Given the description of an element on the screen output the (x, y) to click on. 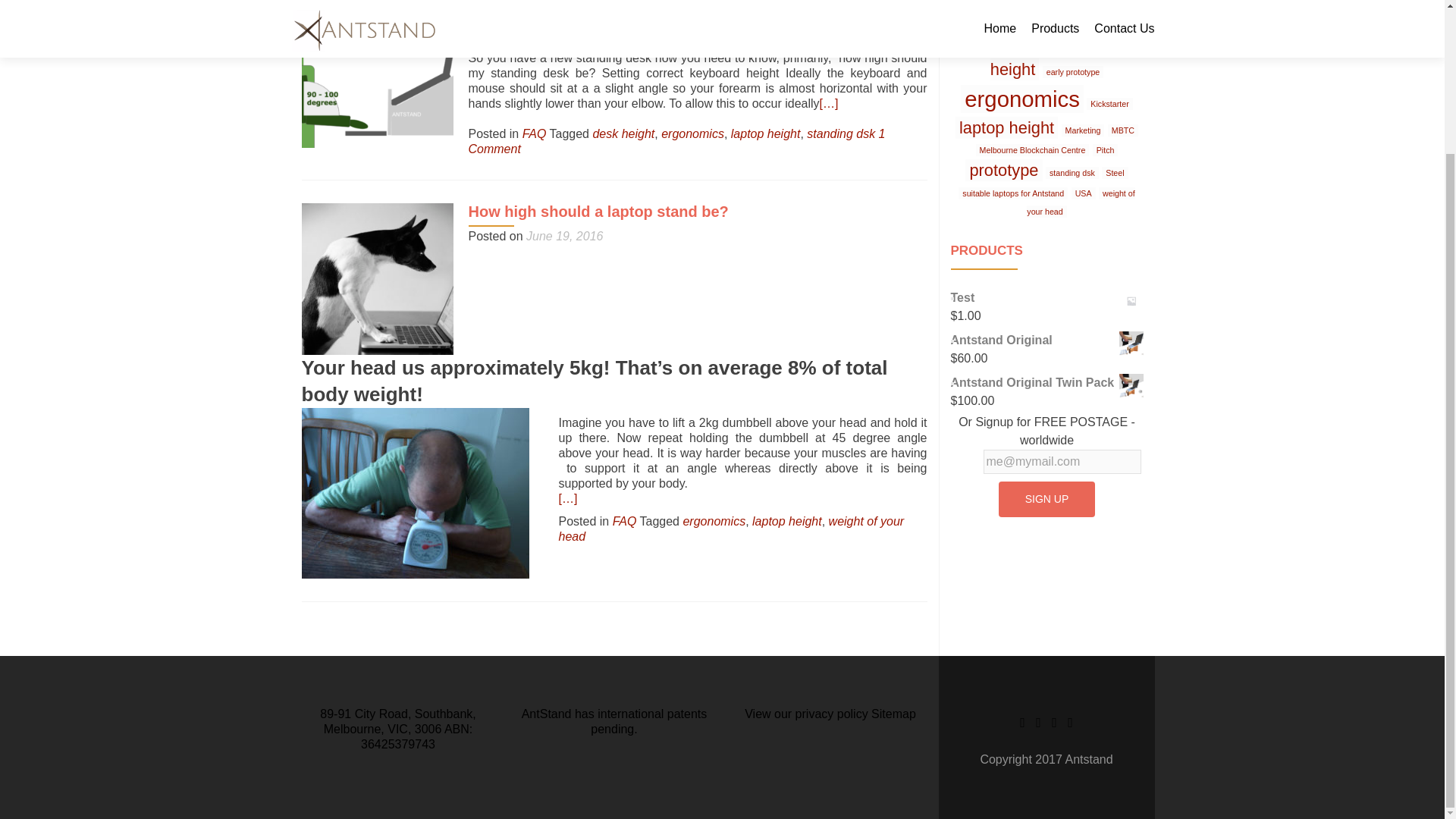
How high should a laptop stand be? (598, 211)
MBTC (1123, 130)
Kickstarter (1109, 103)
cardboard (1064, 46)
June 19, 2016 (563, 236)
early prototype (1072, 71)
ergonomics (692, 133)
weight of your head (730, 528)
ergonomics (1021, 99)
ergonomics (713, 521)
standing dsk (840, 133)
Marketing (1083, 130)
Pitch (1105, 150)
FAQ (624, 521)
How high should my standing desk be? (611, 6)
